Given the description of an element on the screen output the (x, y) to click on. 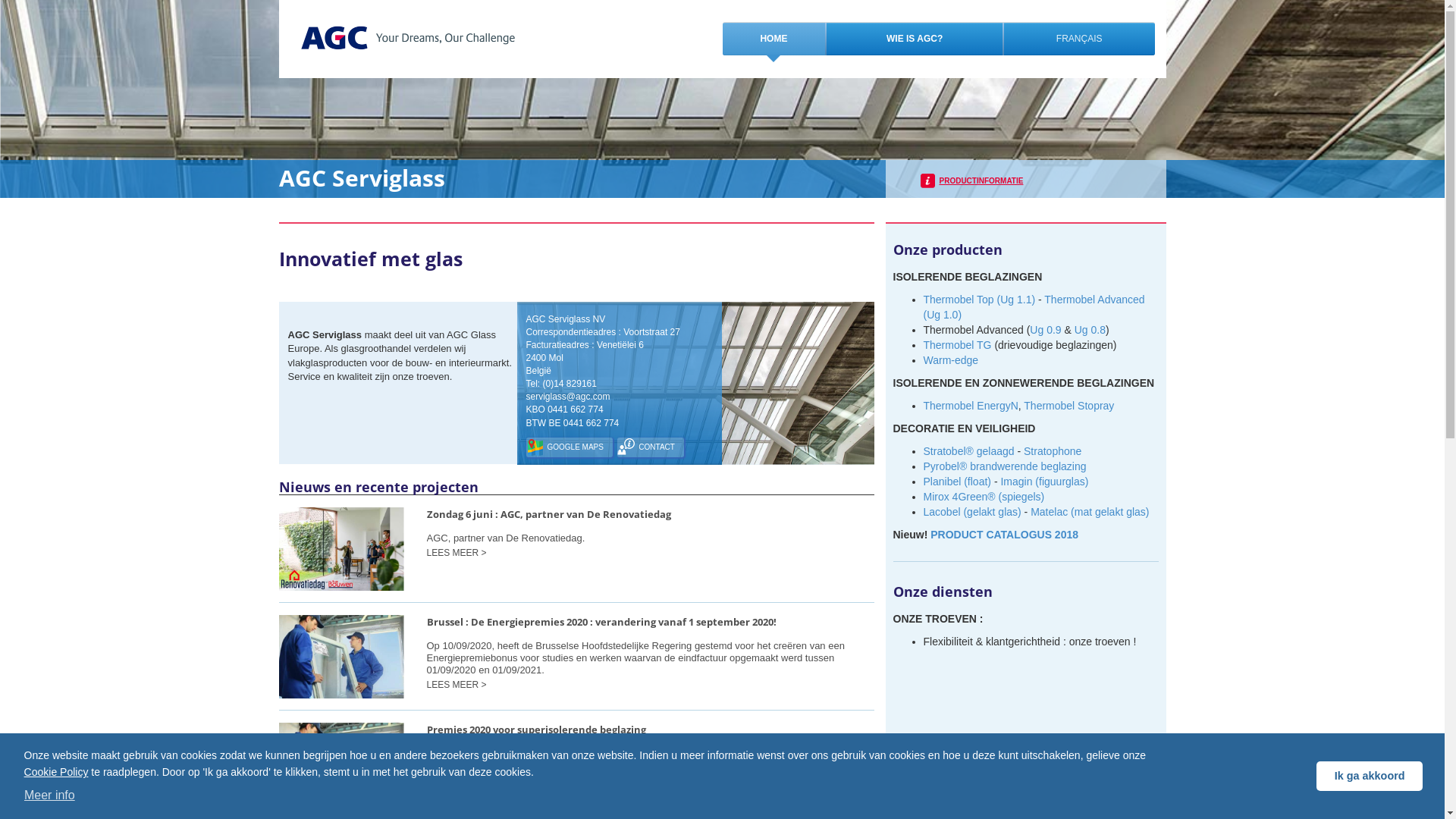
Ug 0.9 Element type: text (1044, 329)
Ug 0.8 Element type: text (1089, 329)
Thermobel Top (Ug 1.1) Element type: text (979, 299)
Imagin (figuurglas) Element type: text (1044, 481)
Meer info Element type: text (49, 795)
Warm-edge Element type: text (951, 360)
Thermobel Stopray Element type: text (1068, 405)
Stratophone Element type: text (1052, 451)
PRODUCTINFORMATIE Element type: text (971, 180)
Thermobel Advanced (Ug 1.0) Element type: text (1034, 306)
Ik ga akkoord Element type: text (1369, 776)
serviglass@agc.com Element type: text (568, 396)
Thermobel TG Element type: text (957, 344)
PRODUCT CATALOGUS 2018 Element type: text (1004, 534)
WIE IS AGC? Element type: text (913, 38)
GOOGLE MAPS Element type: text (569, 447)
Cookie Policy Element type: text (56, 771)
HOME Element type: text (773, 38)
Planibel (float) Element type: text (957, 481)
Thermobel EnergyN Element type: text (970, 405)
AGC, partner van De Renovatiedag. Element type: text (649, 539)
AGC - Home Element type: hover (406, 37)
Matelac (mat gelakt glas) Element type: text (1089, 511)
CONTACT Element type: text (650, 447)
Lacobel (gelakt glas) Element type: text (972, 511)
